Given the description of an element on the screen output the (x, y) to click on. 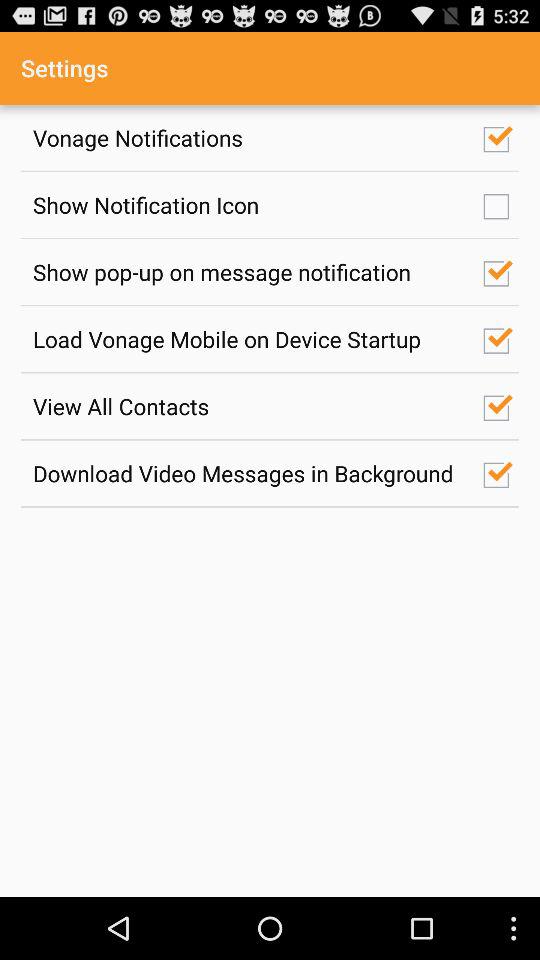
click icon below the show notification icon item (247, 271)
